Given the description of an element on the screen output the (x, y) to click on. 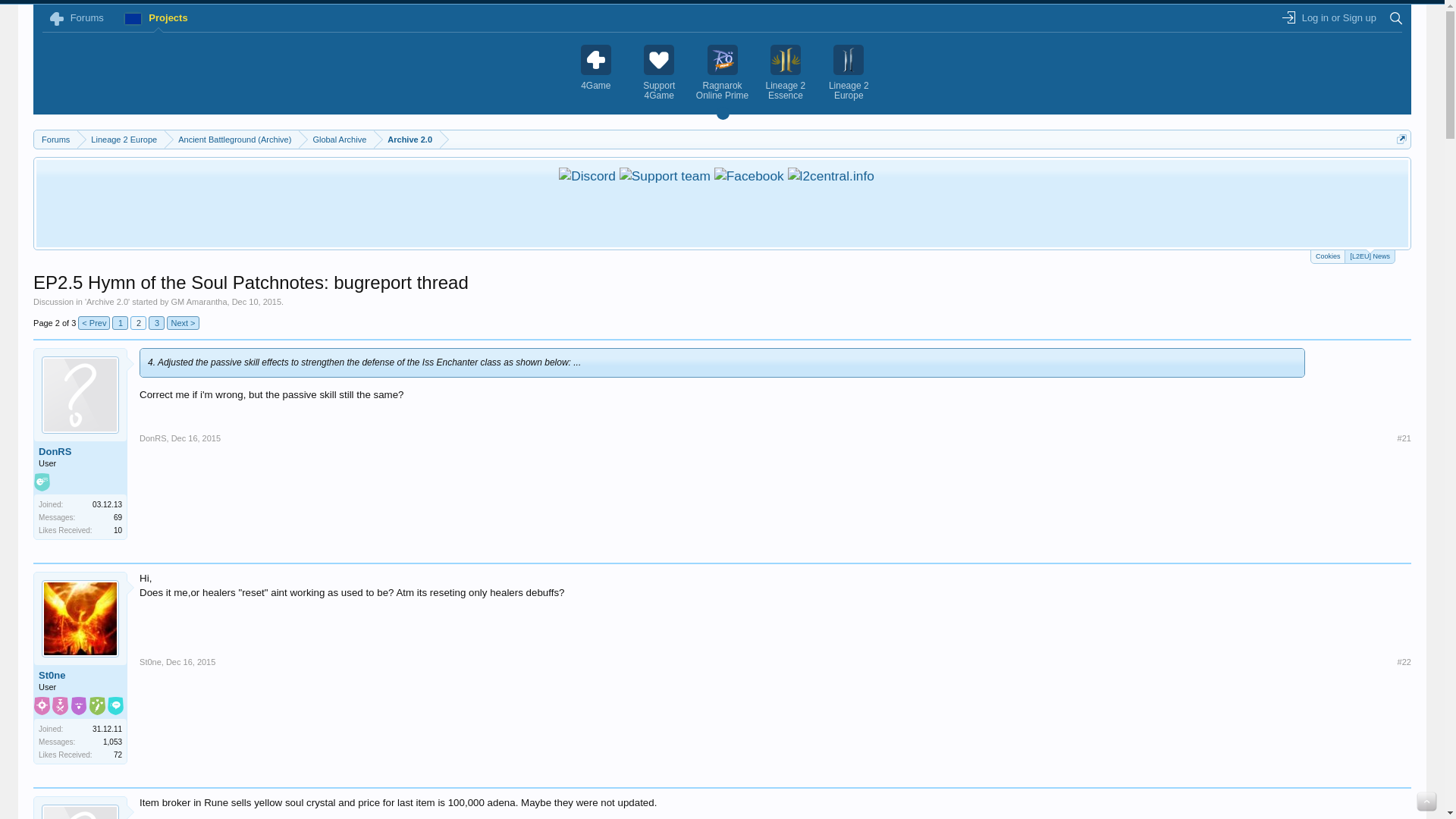
Dec 10, 2015 (256, 301)
Knowledge base (831, 175)
Dec 10, 2015 at 7:50 PM (256, 301)
GM Amarantha (199, 301)
Log in or Sign up (1329, 17)
4Game (596, 67)
Lineage 2 Europe (848, 72)
Lineage 2 Essence (785, 72)
Ragnarok Online Prime (722, 72)
Forums (55, 139)
Forums (78, 17)
Permalink (1403, 438)
Global Archive (336, 139)
Support 4Game (658, 72)
